Given the description of an element on the screen output the (x, y) to click on. 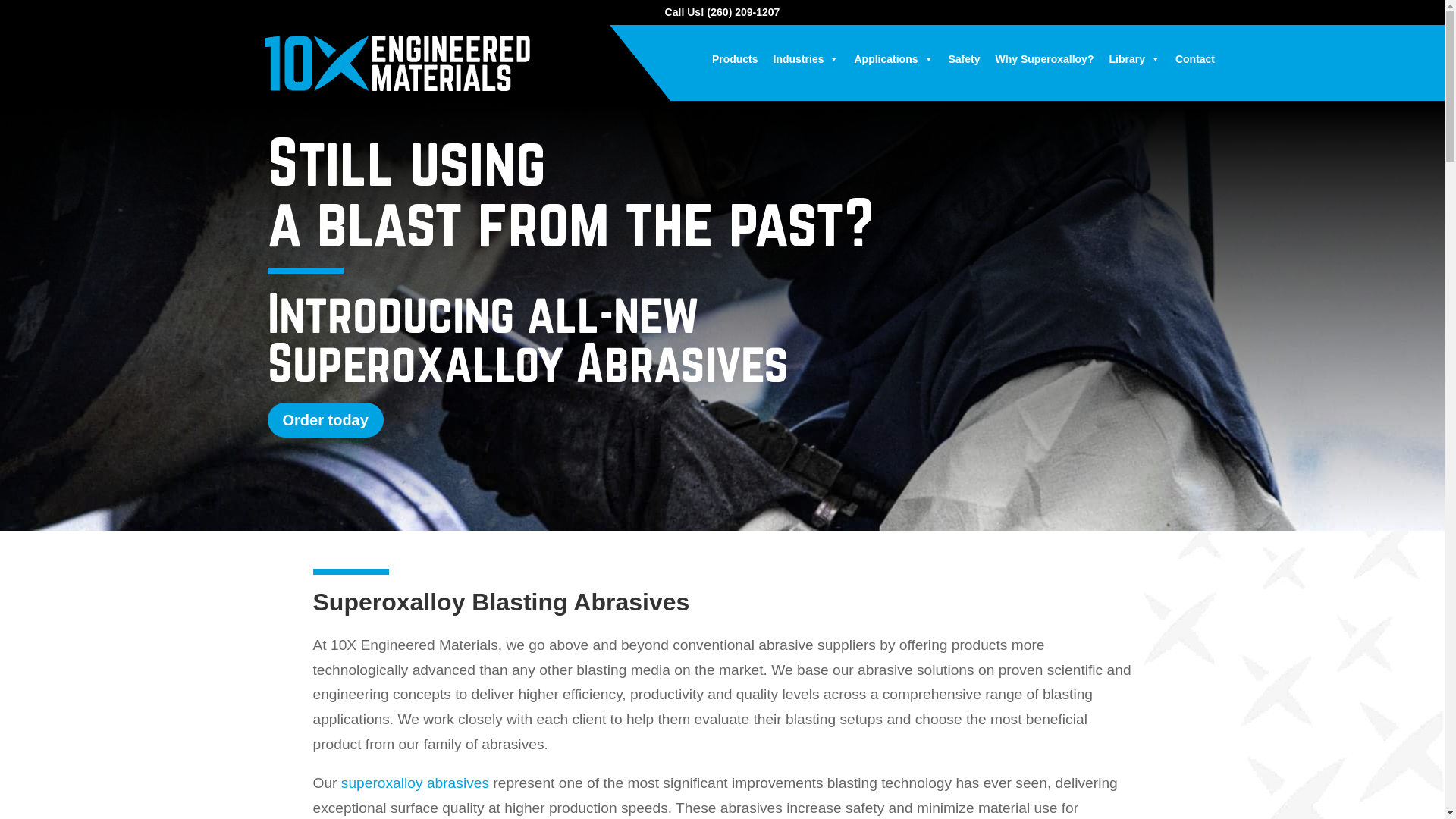
Safety Element type: text (963, 58)
Products Element type: text (734, 58)
Library Element type: text (1134, 58)
Industries Element type: text (806, 58)
Contact Element type: text (1194, 58)
Call Us! (260) 209-1207 Element type: text (721, 12)
10x Engineered Materials Element type: hover (397, 63)
Why Superoxalloy? Element type: text (1044, 58)
Applications Element type: text (893, 58)
superoxalloy abrasives Element type: text (415, 782)
Order today Element type: text (324, 419)
